Given the description of an element on the screen output the (x, y) to click on. 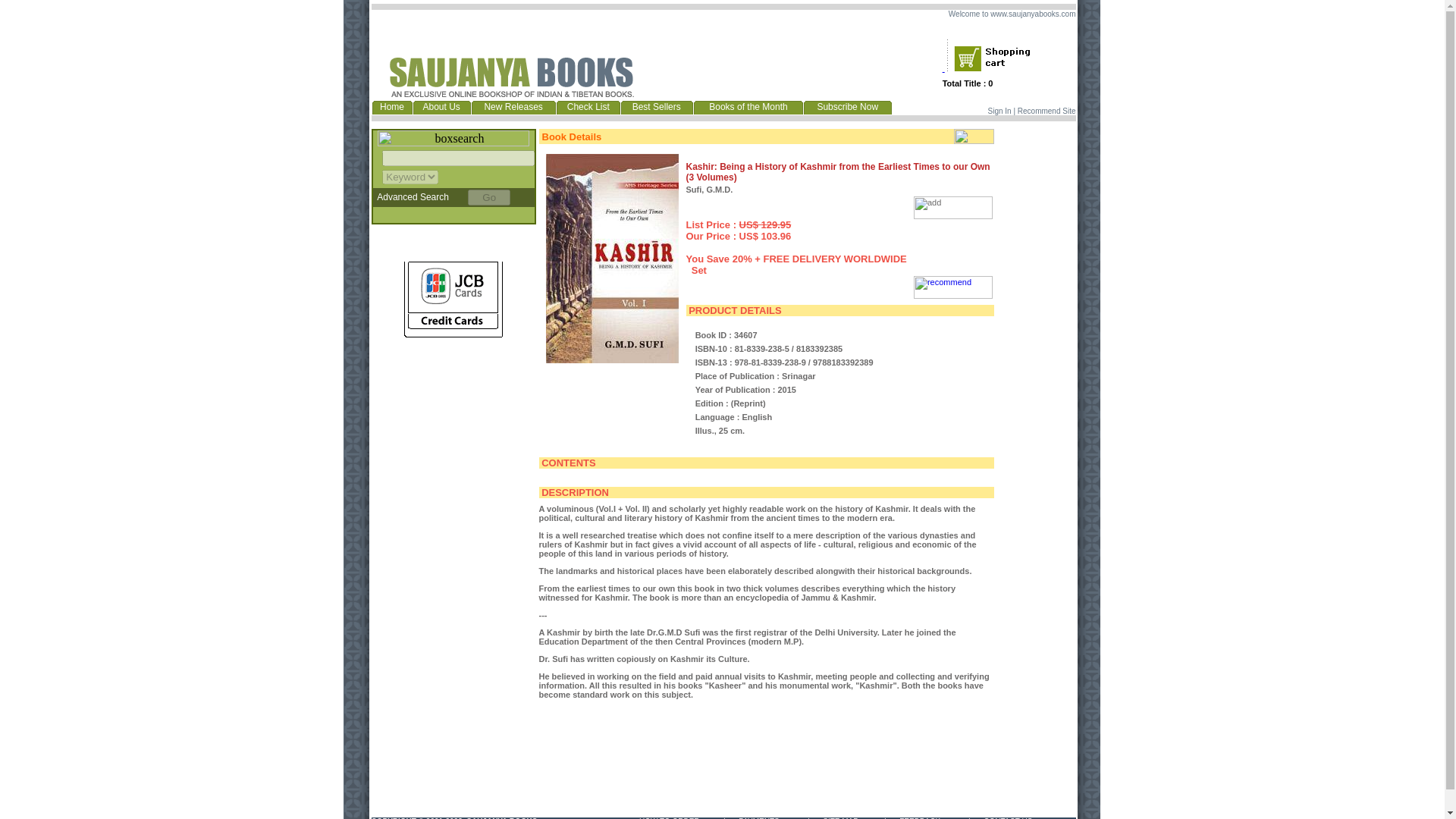
About Us (441, 106)
Subscribe Now (846, 106)
PAYMENTS (758, 818)
CONTACT US (1008, 818)
SITE MAP (840, 818)
New Releases (512, 106)
Check List (588, 106)
FEEDBACK (919, 818)
Recommend Site (1046, 111)
Best Sellers (656, 106)
